Given the description of an element on the screen output the (x, y) to click on. 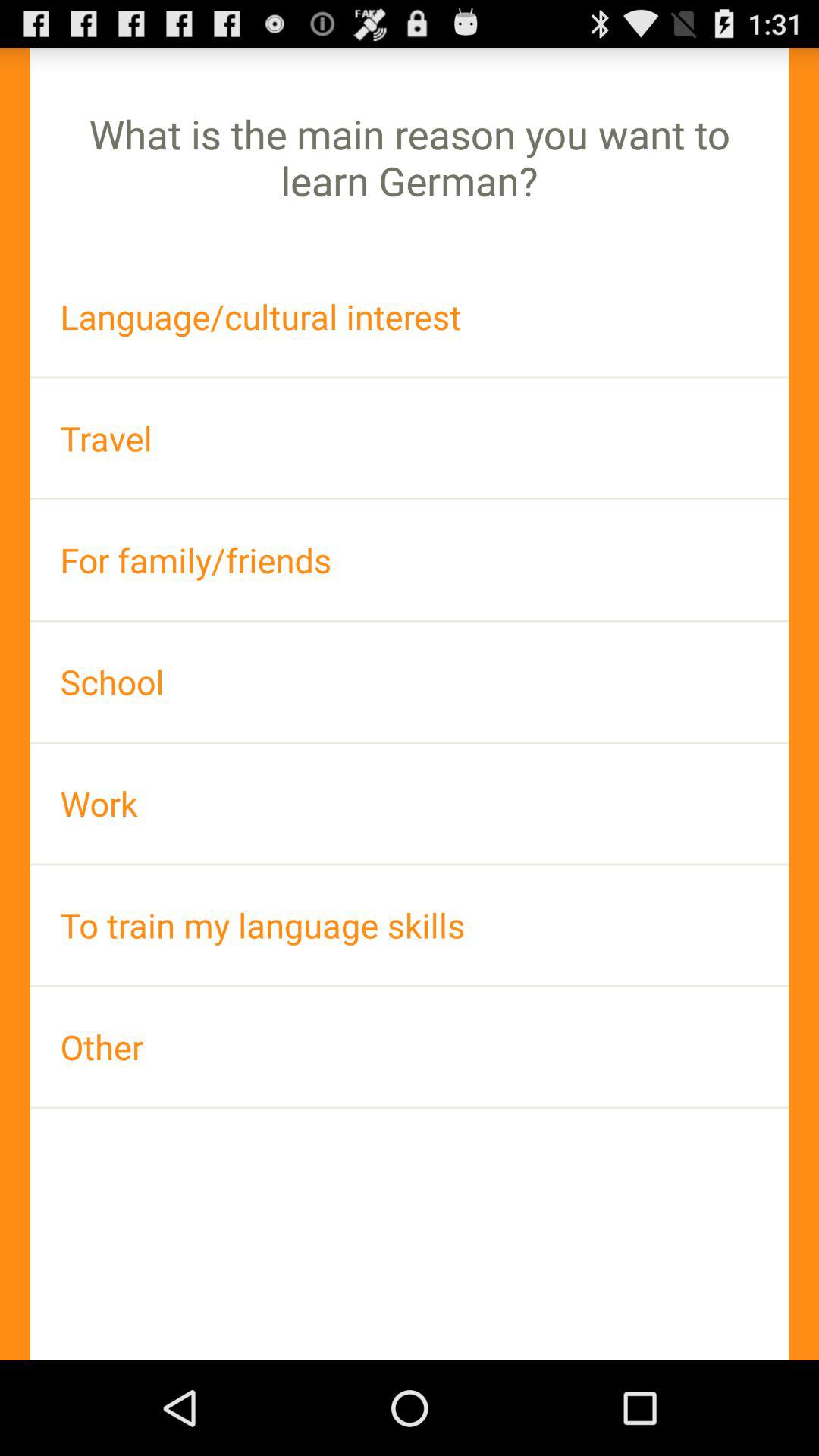
turn on the icon below to train my icon (409, 1046)
